Given the description of an element on the screen output the (x, y) to click on. 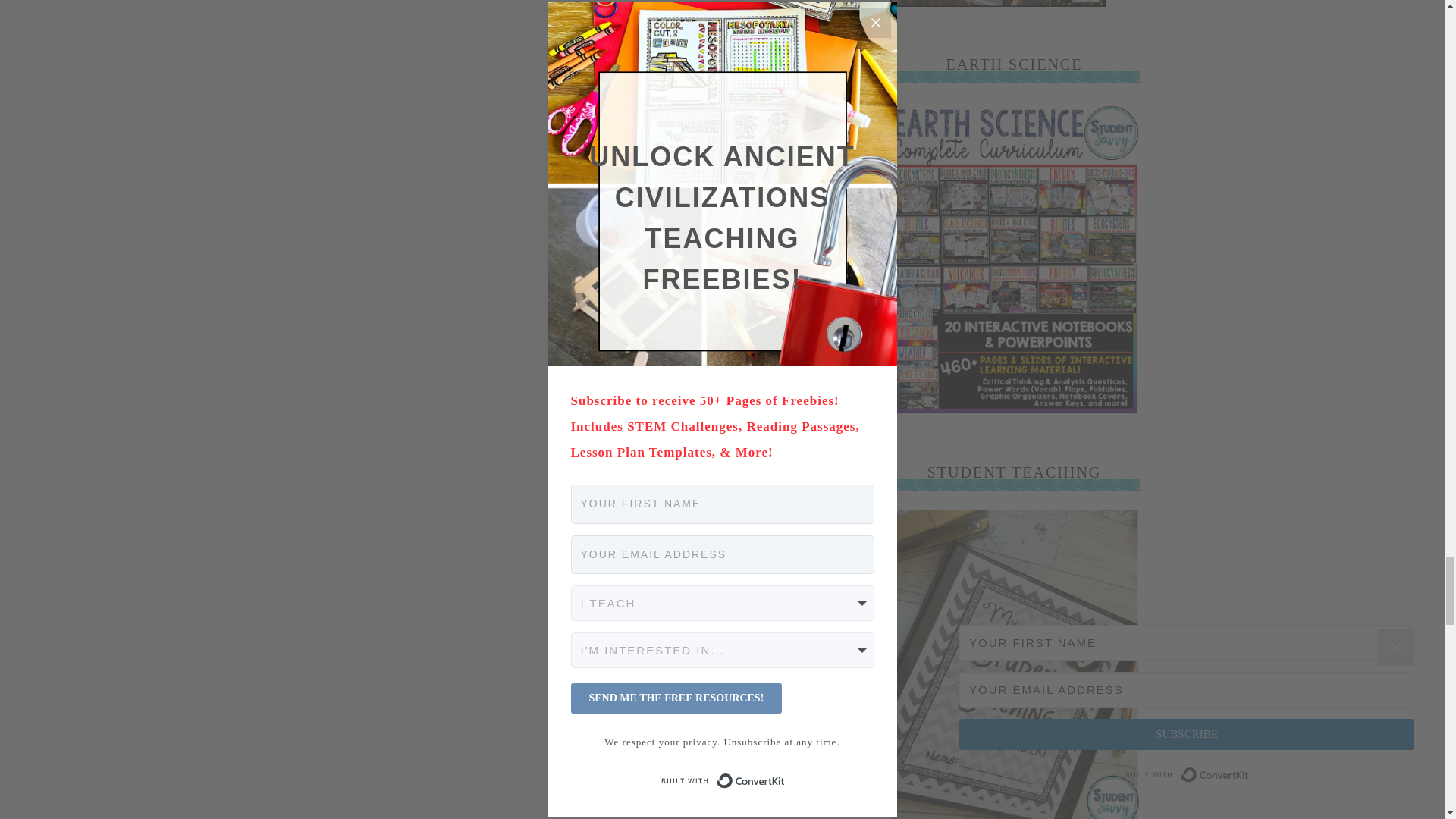
Summer STEM Activities (996, 4)
EARTH SCIENCE (1013, 410)
